Given the description of an element on the screen output the (x, y) to click on. 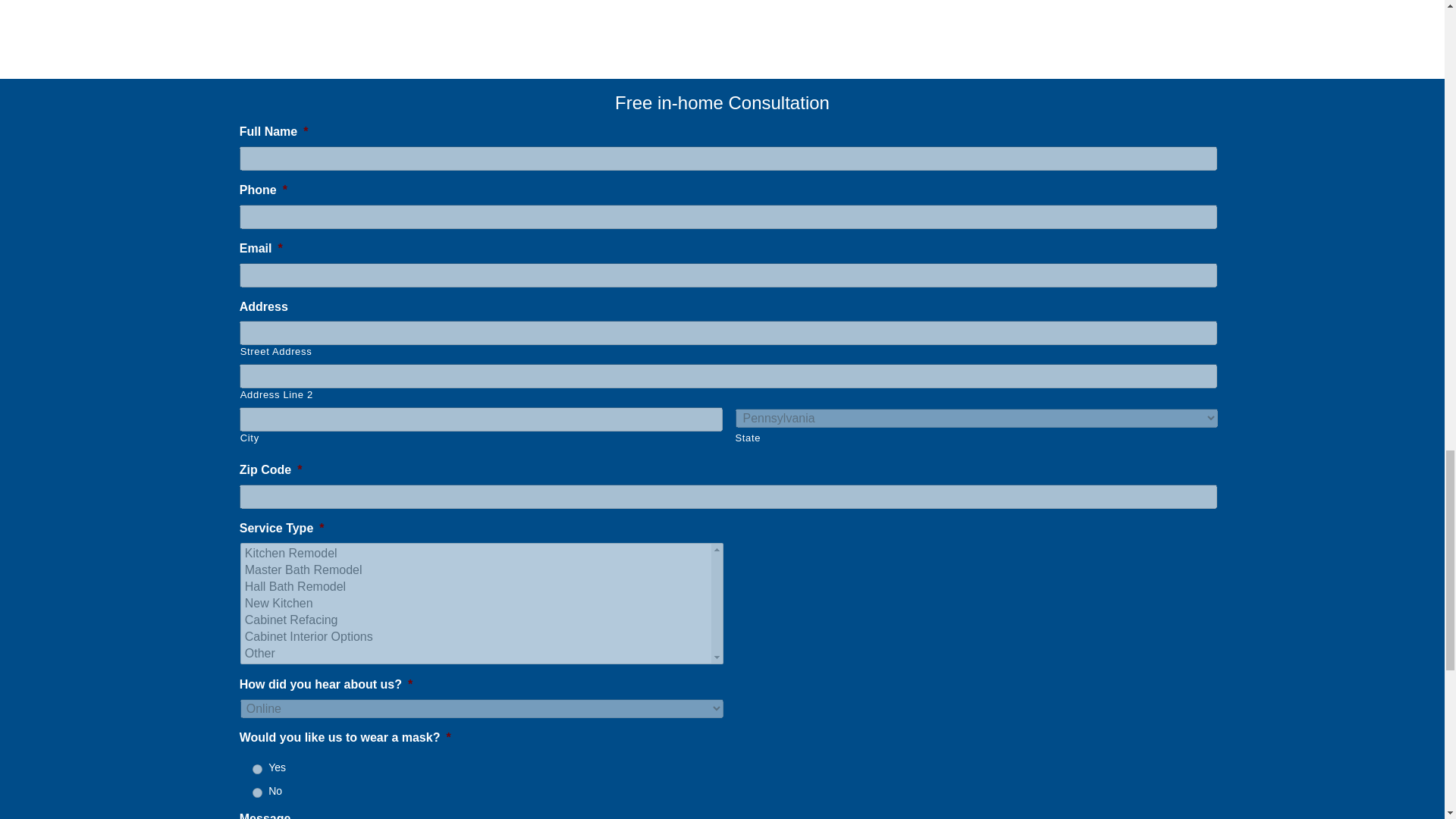
Yes (256, 768)
No (256, 792)
